Given the description of an element on the screen output the (x, y) to click on. 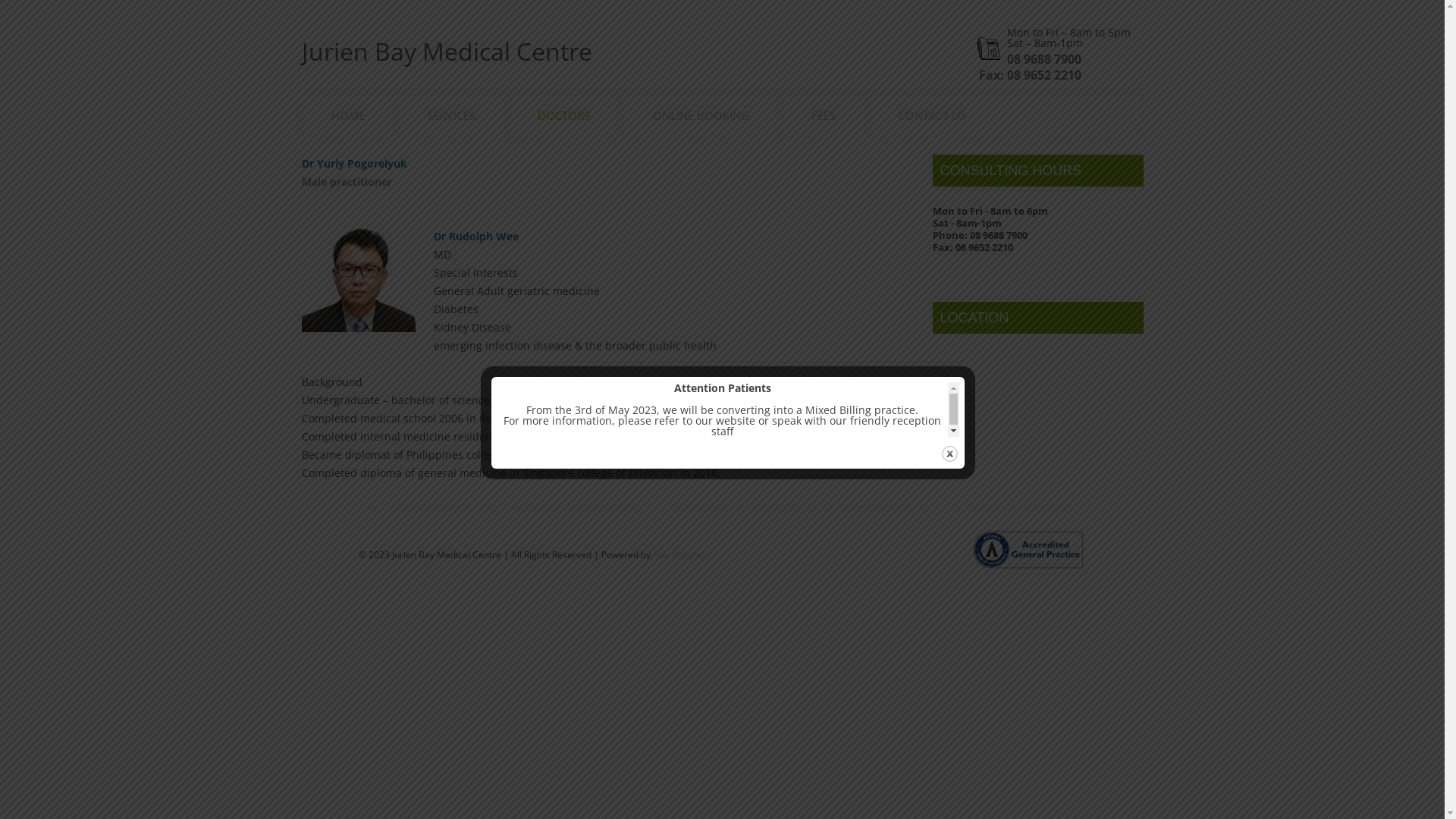
CONTACT US Element type: text (932, 115)
Five Minutes Element type: text (678, 554)
ONLINE BOOKING Element type: text (700, 115)
SERVICES Element type: text (451, 115)
FEES Element type: text (823, 115)
Skip to content Element type: text (821, 52)
HOME Element type: text (347, 115)
DOCTORS Element type: text (563, 115)
Jurien Bay Medical Centre Element type: text (446, 60)
